Given the description of an element on the screen output the (x, y) to click on. 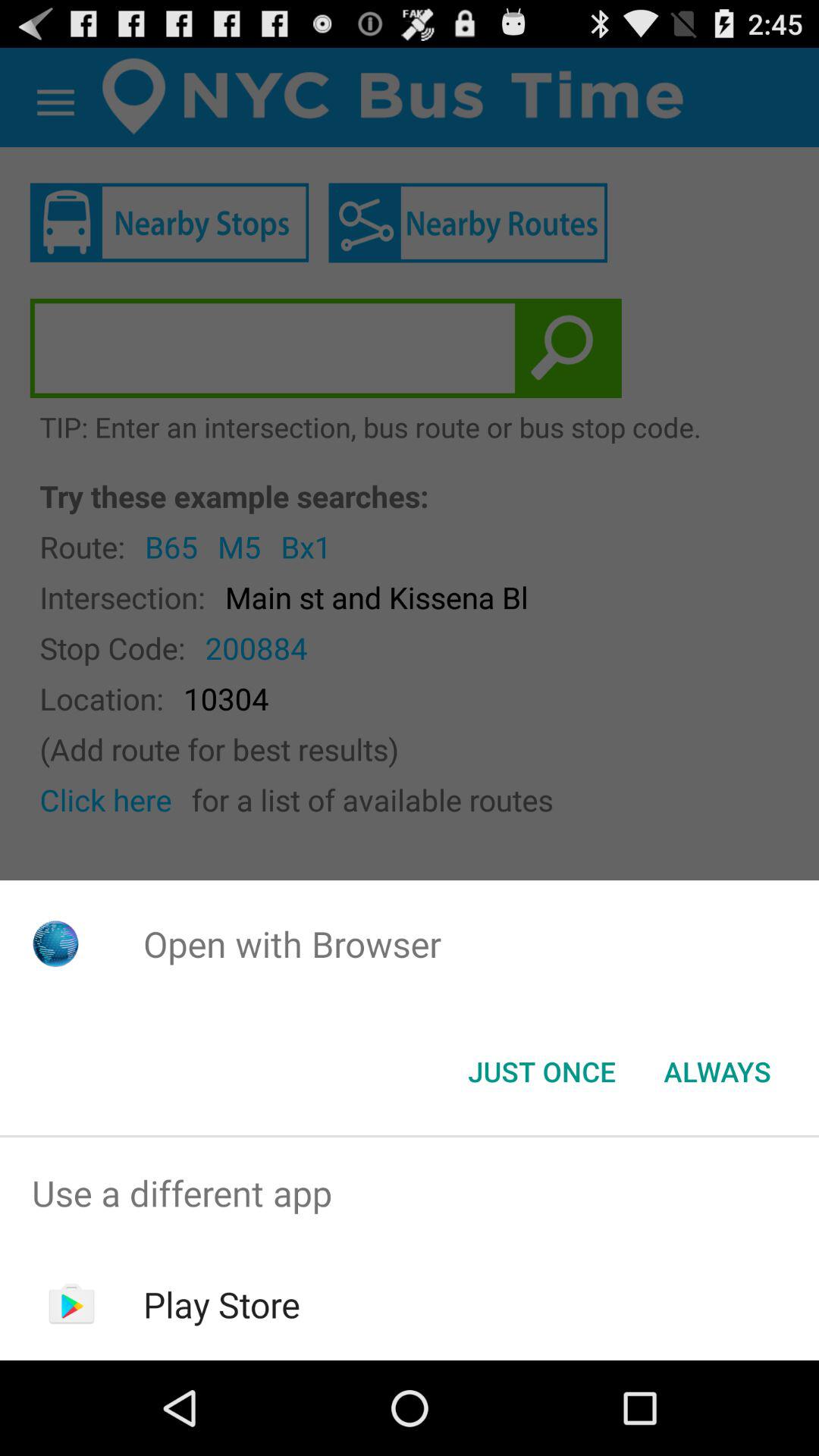
click the button at the bottom right corner (717, 1071)
